Given the description of an element on the screen output the (x, y) to click on. 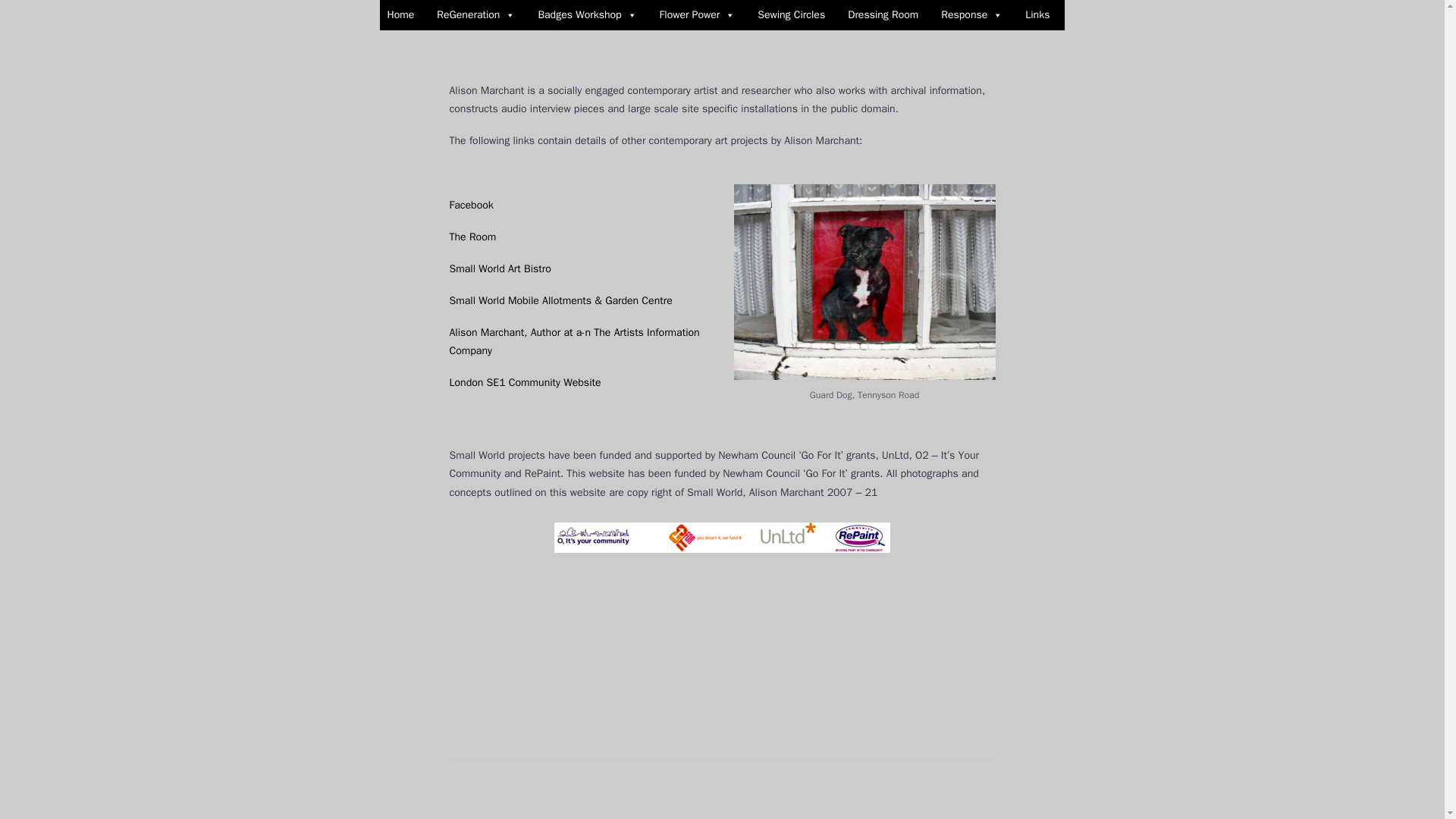
Small World Art Bistro (499, 268)
Flower Power (697, 15)
Links (1037, 15)
ReGeneration (475, 15)
Response (971, 15)
London SE1 Community Website (523, 382)
Sewing Circles (790, 15)
Sinatra WordPress Theme (814, 791)
Badges Workshop (586, 15)
Dressing Room (883, 15)
The Room (472, 236)
Home (401, 15)
Facebook (470, 204)
